Given the description of an element on the screen output the (x, y) to click on. 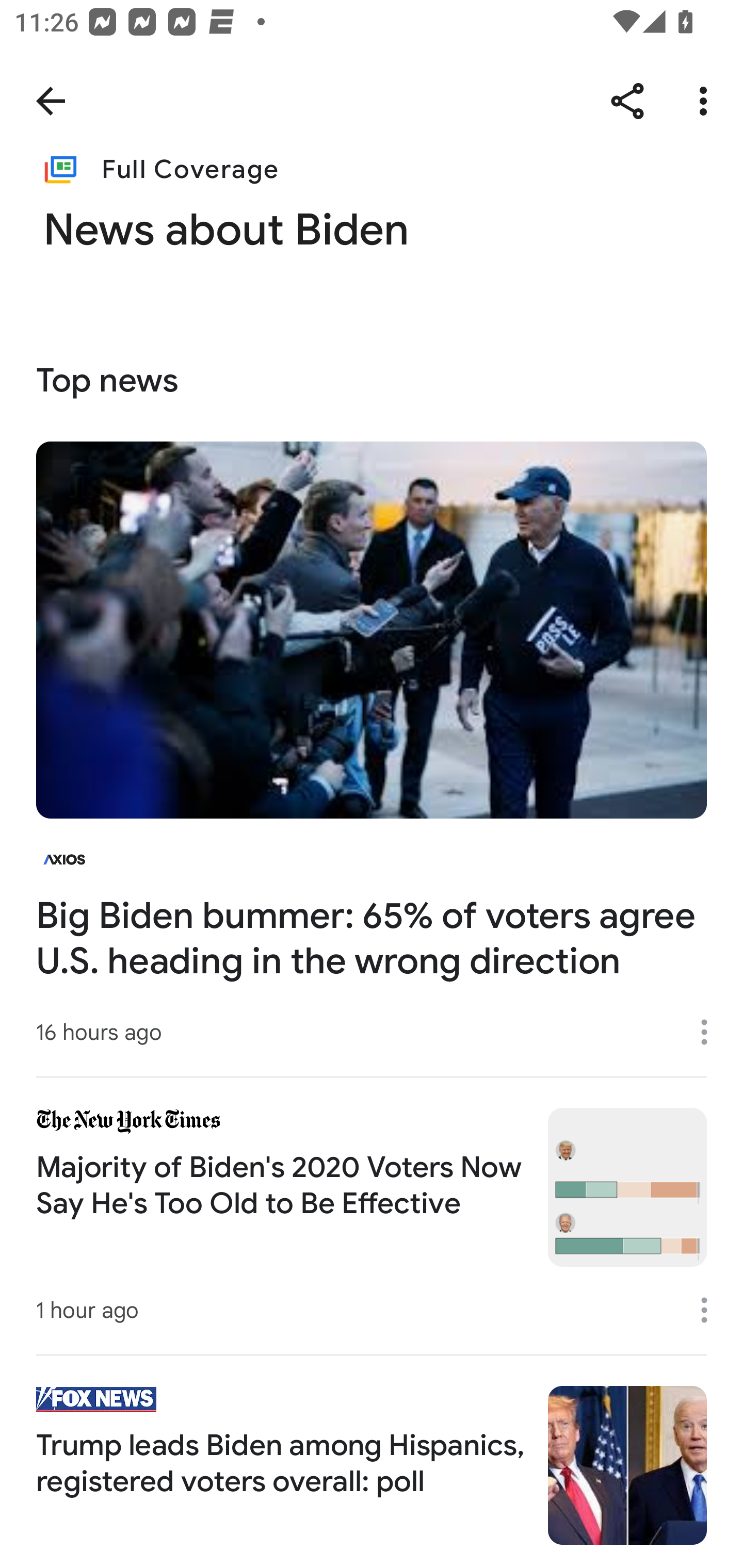
Navigate up (50, 101)
Share (626, 101)
More options (706, 101)
More options (711, 1032)
More options (711, 1309)
